Given the description of an element on the screen output the (x, y) to click on. 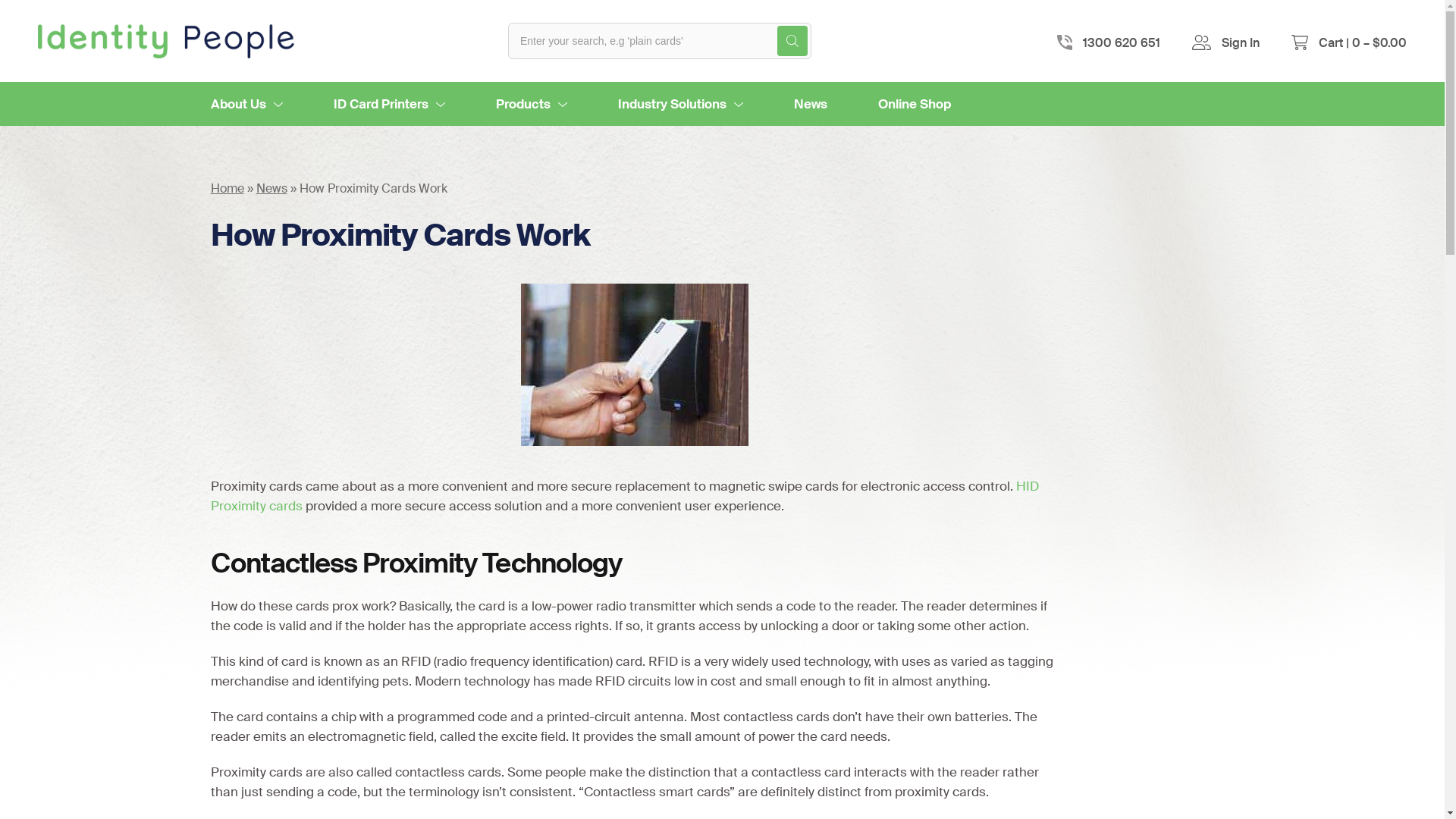
Online Shop Element type: text (914, 103)
News Element type: text (271, 188)
News Element type: text (809, 103)
About Us Element type: text (246, 103)
1300 620 651 Element type: text (1121, 41)
Sign In Element type: text (1240, 42)
ID Card Printers Element type: text (389, 103)
HID Proximity cards Element type: text (624, 495)
Products Element type: text (531, 103)
Industry Solutions Element type: text (679, 103)
Home Element type: text (227, 188)
